Given the description of an element on the screen output the (x, y) to click on. 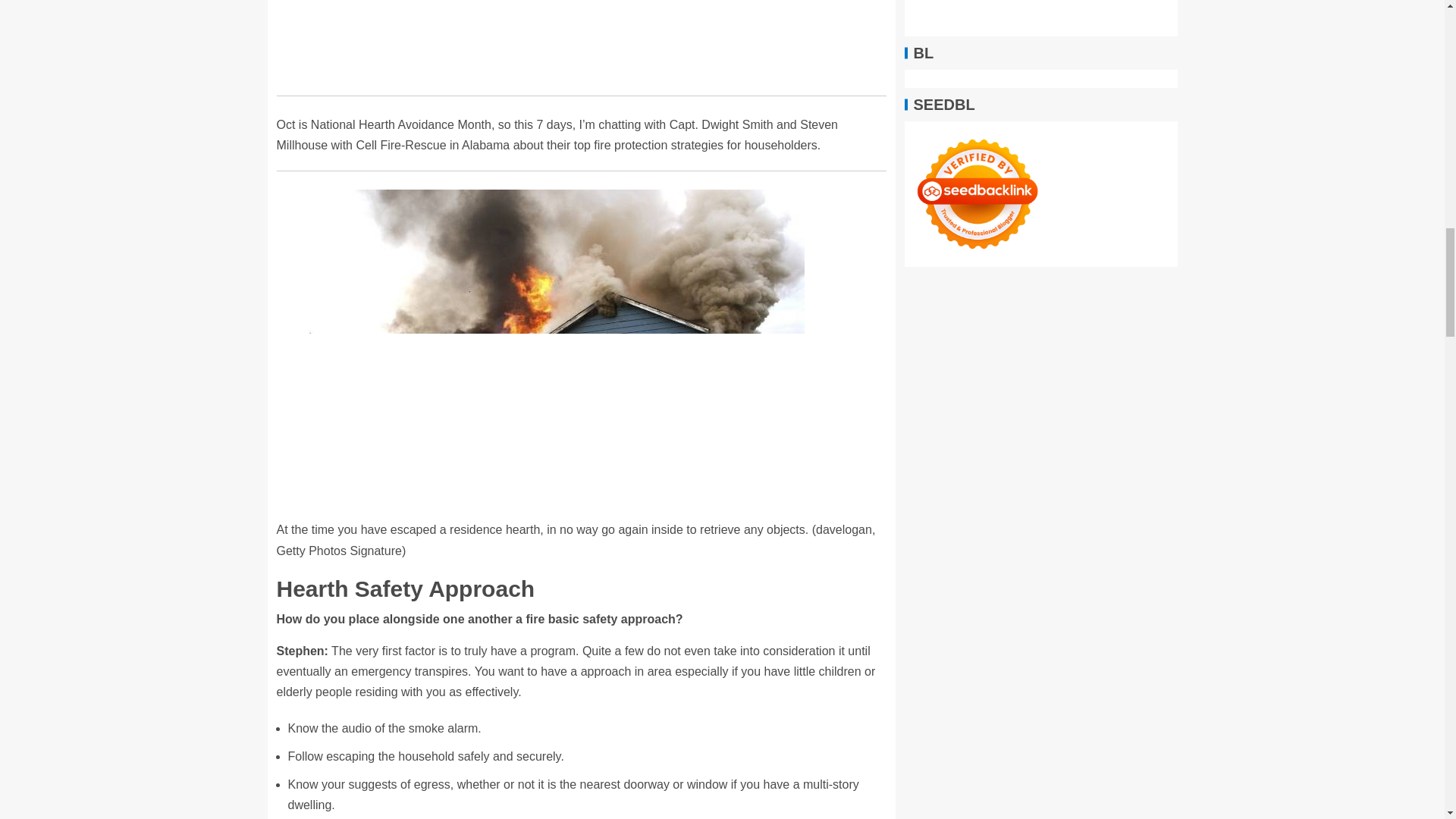
The Ask Danny Podcast (580, 37)
